Given the description of an element on the screen output the (x, y) to click on. 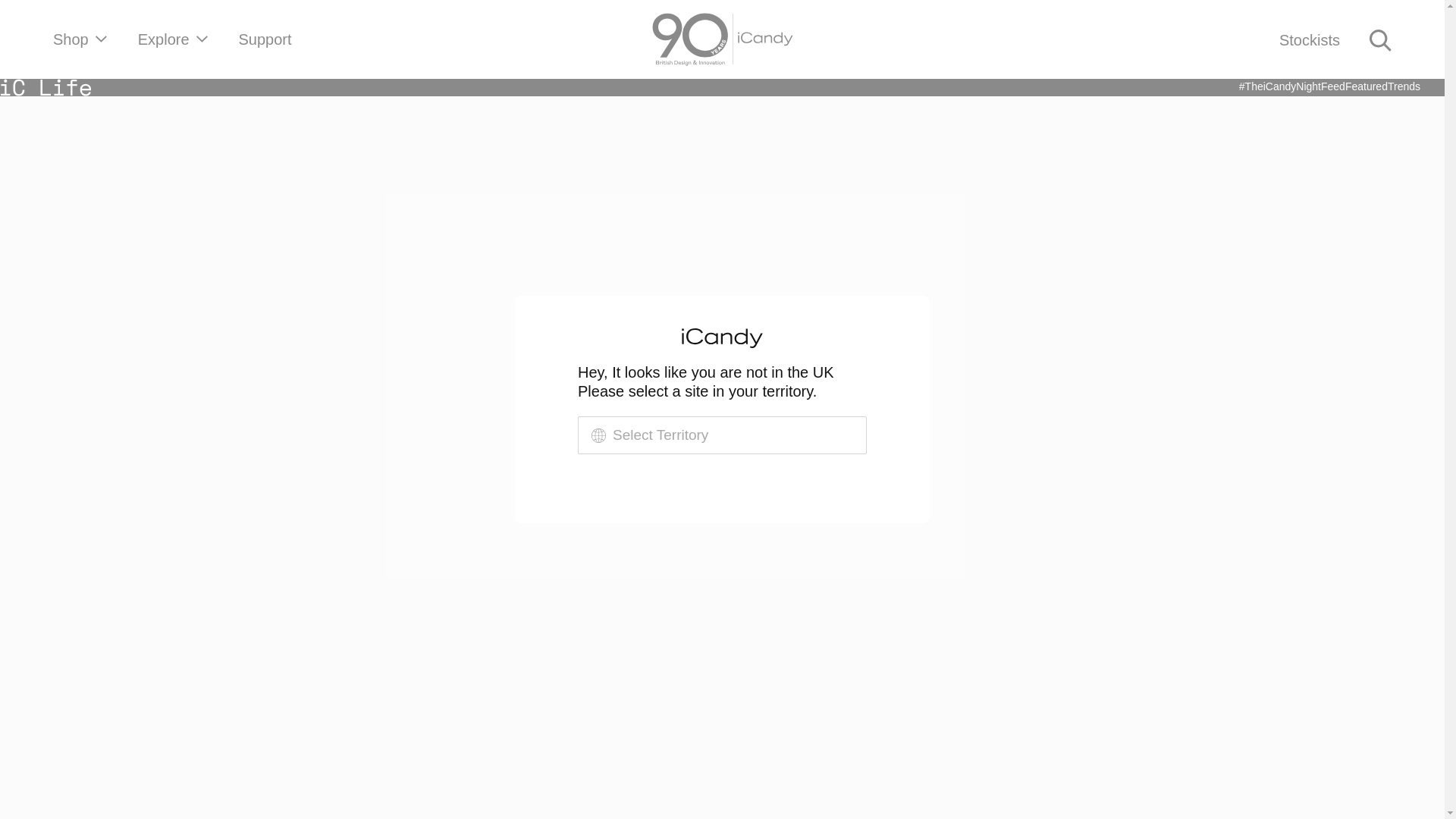
Featured (1366, 86)
Stockists (1309, 40)
Support (264, 38)
Trends (1404, 86)
Stockists (1309, 40)
Search (1380, 39)
